Given the description of an element on the screen output the (x, y) to click on. 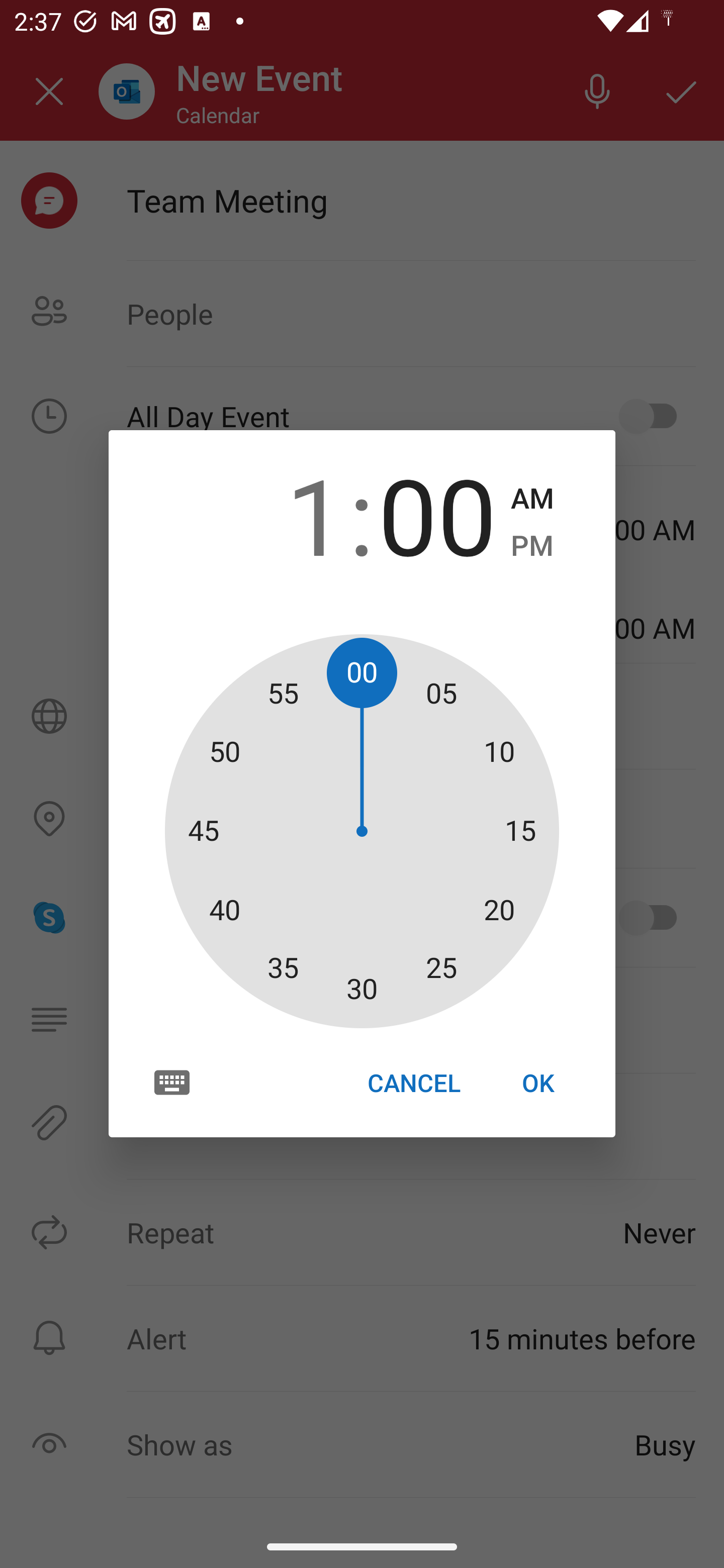
1 (285, 513)
00 (436, 513)
AM (532, 498)
PM (532, 546)
CANCEL (413, 1082)
OK (537, 1082)
Switch to text input mode for the time input. (171, 1081)
